Given the description of an element on the screen output the (x, y) to click on. 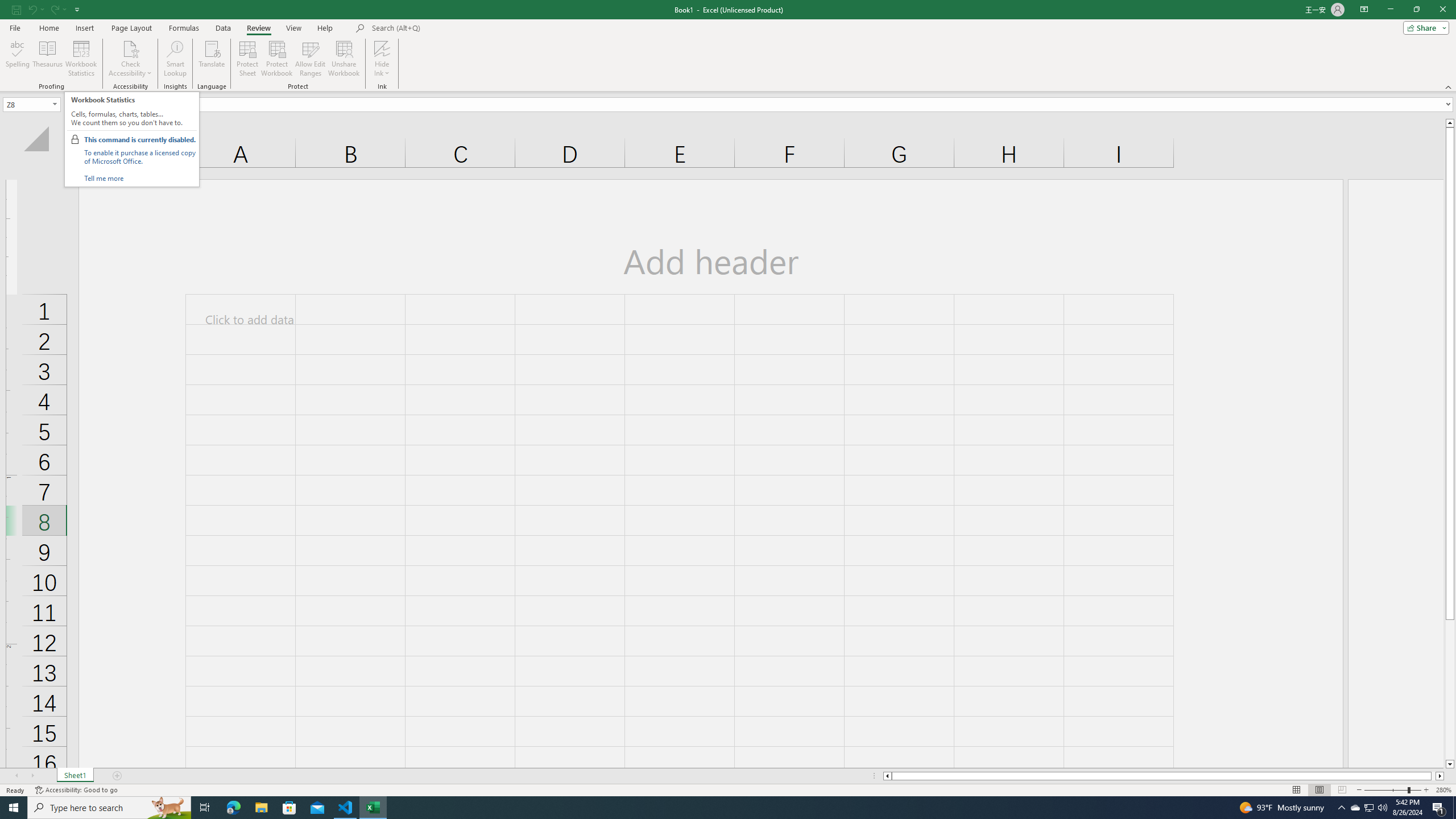
This command is currently disabled. (139, 139)
Translate (211, 58)
